Given the description of an element on the screen output the (x, y) to click on. 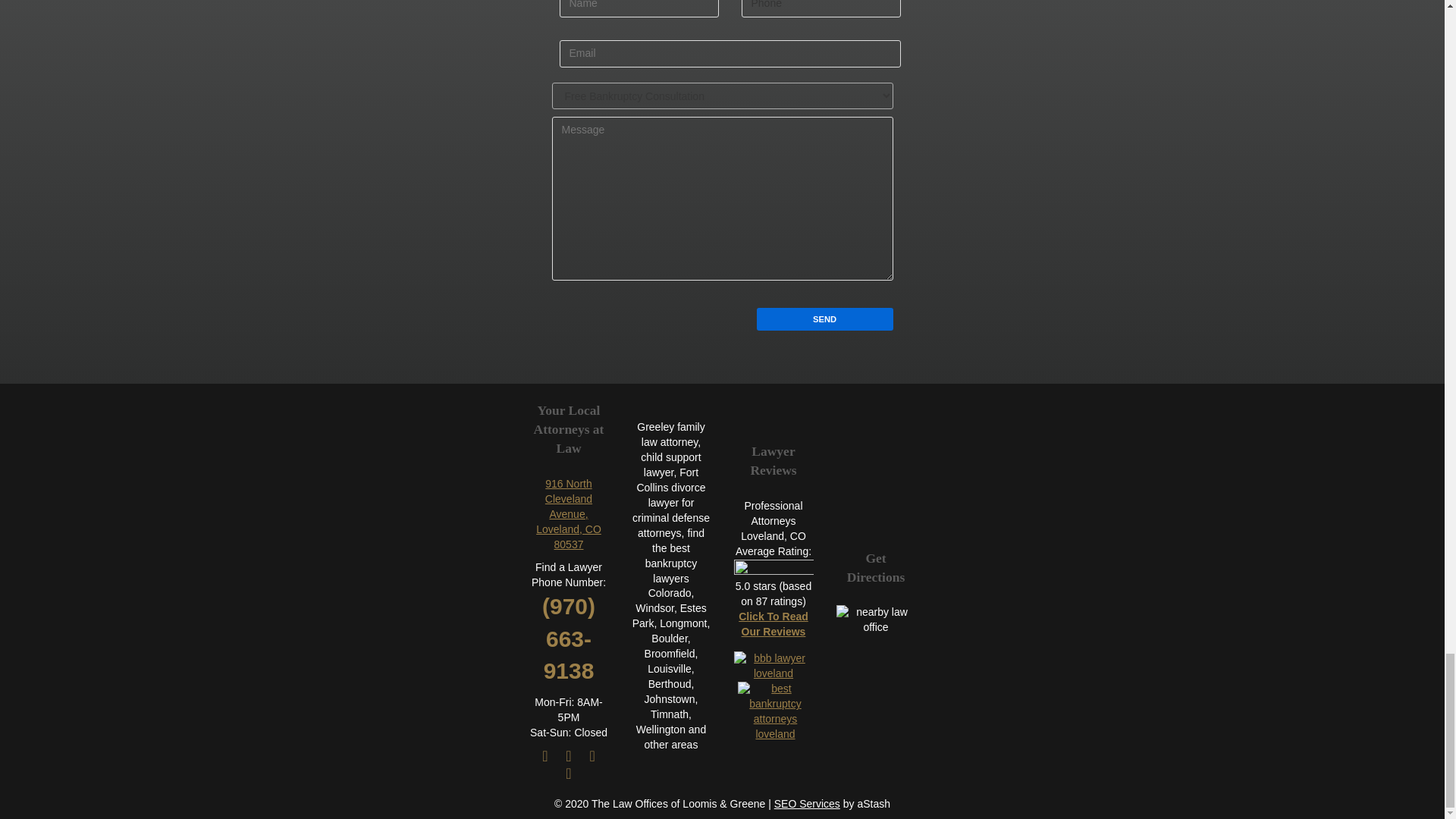
Send (825, 318)
SEO Services (807, 803)
Phone (821, 8)
Send (825, 318)
